Given the description of an element on the screen output the (x, y) to click on. 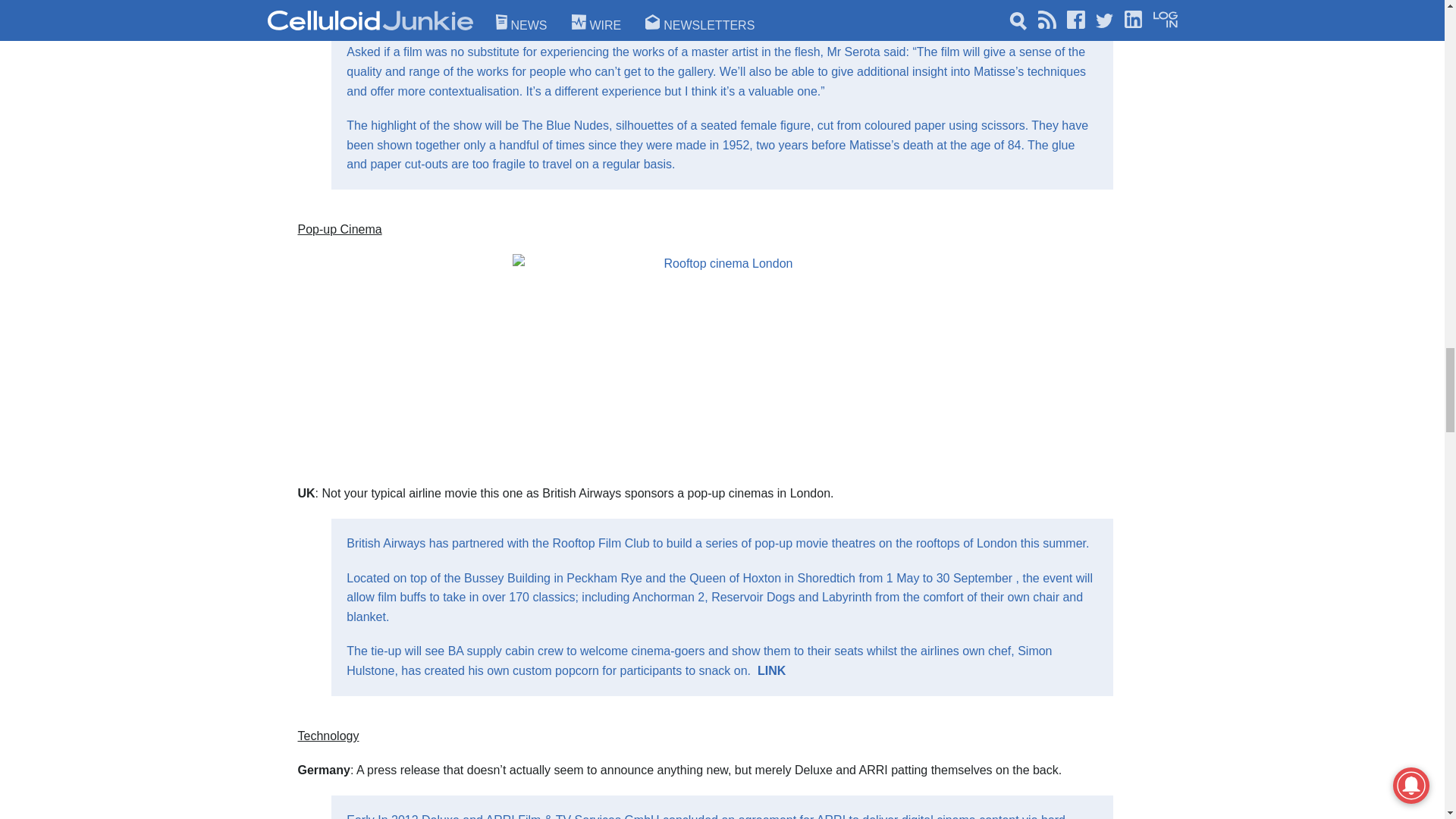
Matisse live exhibition article (511, 4)
